Given the description of an element on the screen output the (x, y) to click on. 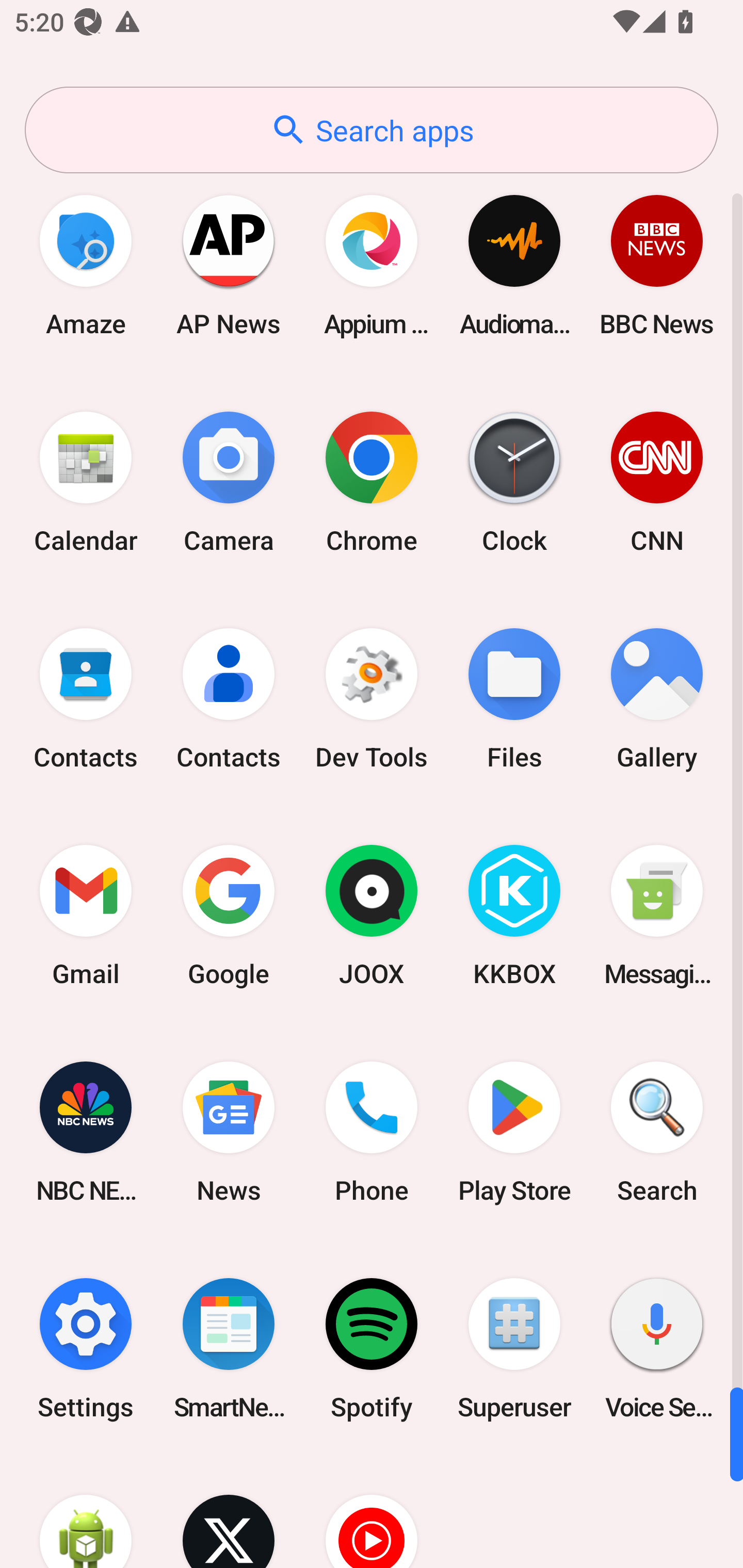
  Search apps (371, 130)
Amaze (85, 264)
AP News (228, 264)
Appium Settings (371, 264)
Audio­mack (514, 264)
BBC News (656, 264)
Calendar (85, 482)
Camera (228, 482)
Chrome (371, 482)
Clock (514, 482)
CNN (656, 482)
Contacts (85, 699)
Contacts (228, 699)
Dev Tools (371, 699)
Files (514, 699)
Gallery (656, 699)
Gmail (85, 915)
Google (228, 915)
JOOX (371, 915)
KKBOX (514, 915)
Messaging (656, 915)
NBC NEWS (85, 1131)
News (228, 1131)
Phone (371, 1131)
Play Store (514, 1131)
Search (656, 1131)
Settings (85, 1348)
SmartNews (228, 1348)
Spotify (371, 1348)
Superuser (514, 1348)
Voice Search (656, 1348)
WebView Browser Tester (85, 1512)
X (228, 1512)
YT Music (371, 1512)
